Given the description of an element on the screen output the (x, y) to click on. 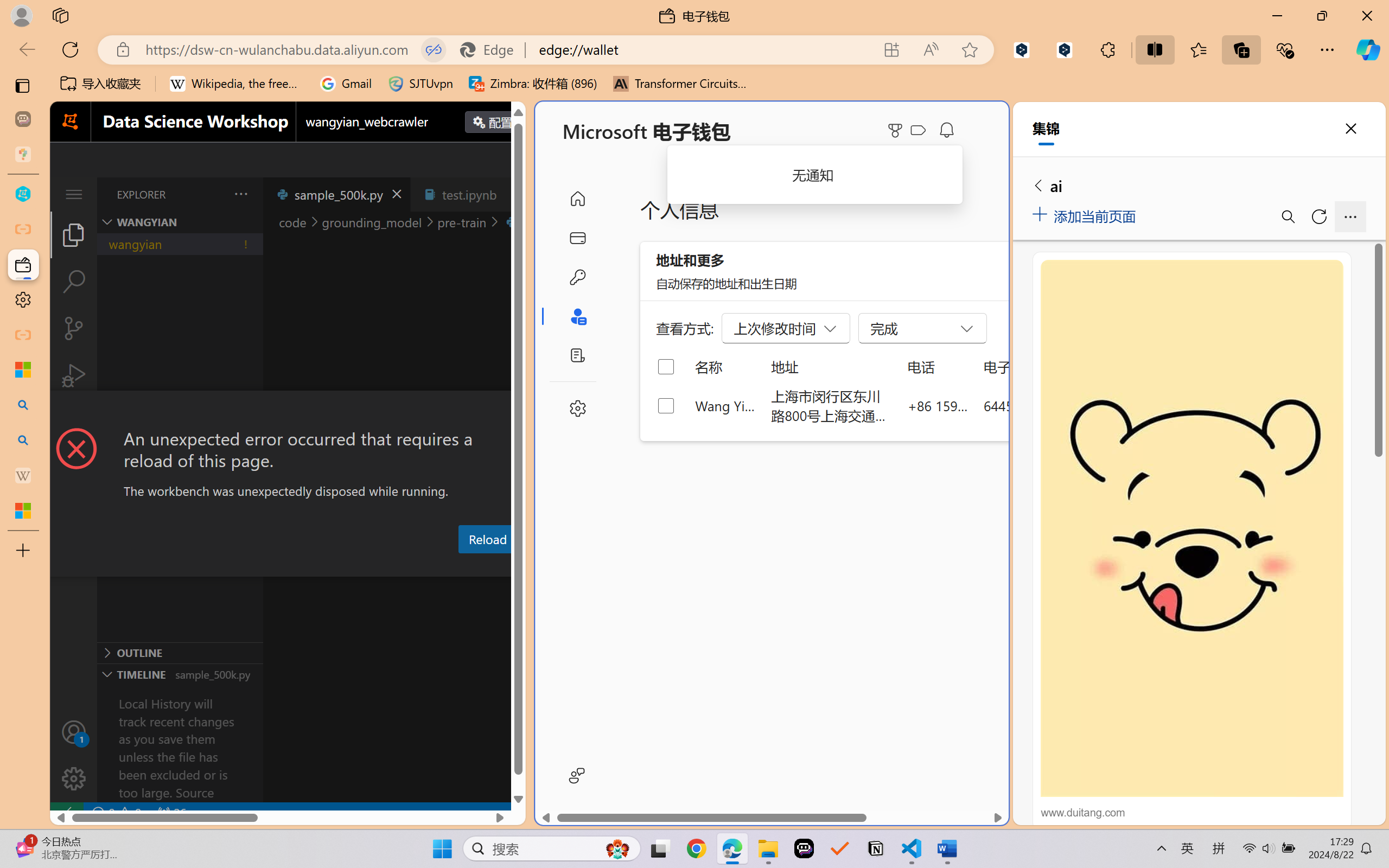
Explorer Section: wangyian (179, 221)
wangyian_dsw - DSW (22, 194)
Run and Debug (Ctrl+Shift+D) (73, 375)
Views and More Actions... (240, 193)
Explorer actions (212, 194)
Close (Ctrl+F4) (512, 194)
Wikipedia, the free encyclopedia (236, 83)
